Given the description of an element on the screen output the (x, y) to click on. 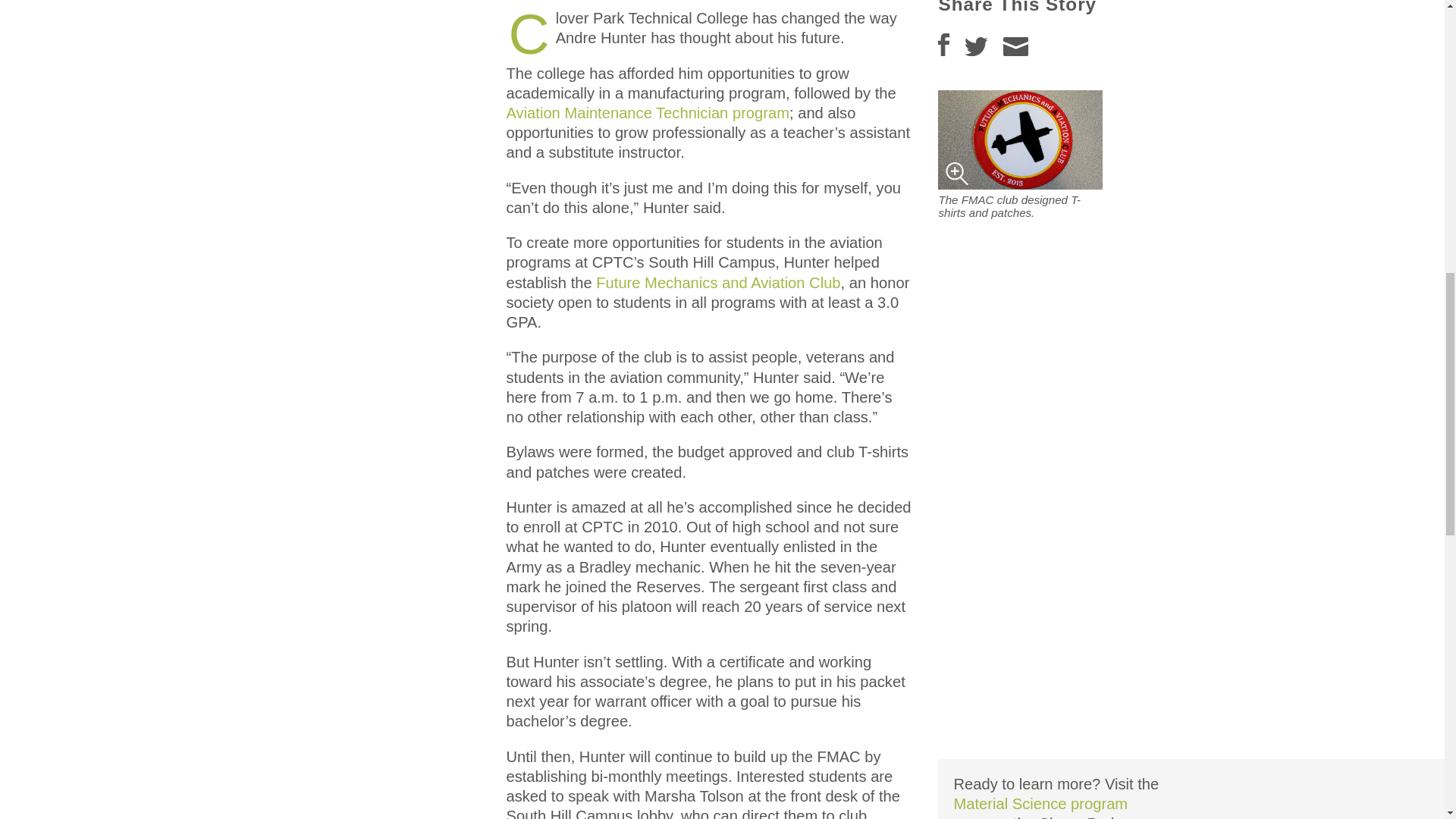
Future Mechanics and Aviation Club (717, 282)
Aviation Maintenance Technician program (647, 112)
Material Science program page (1039, 807)
